Given the description of an element on the screen output the (x, y) to click on. 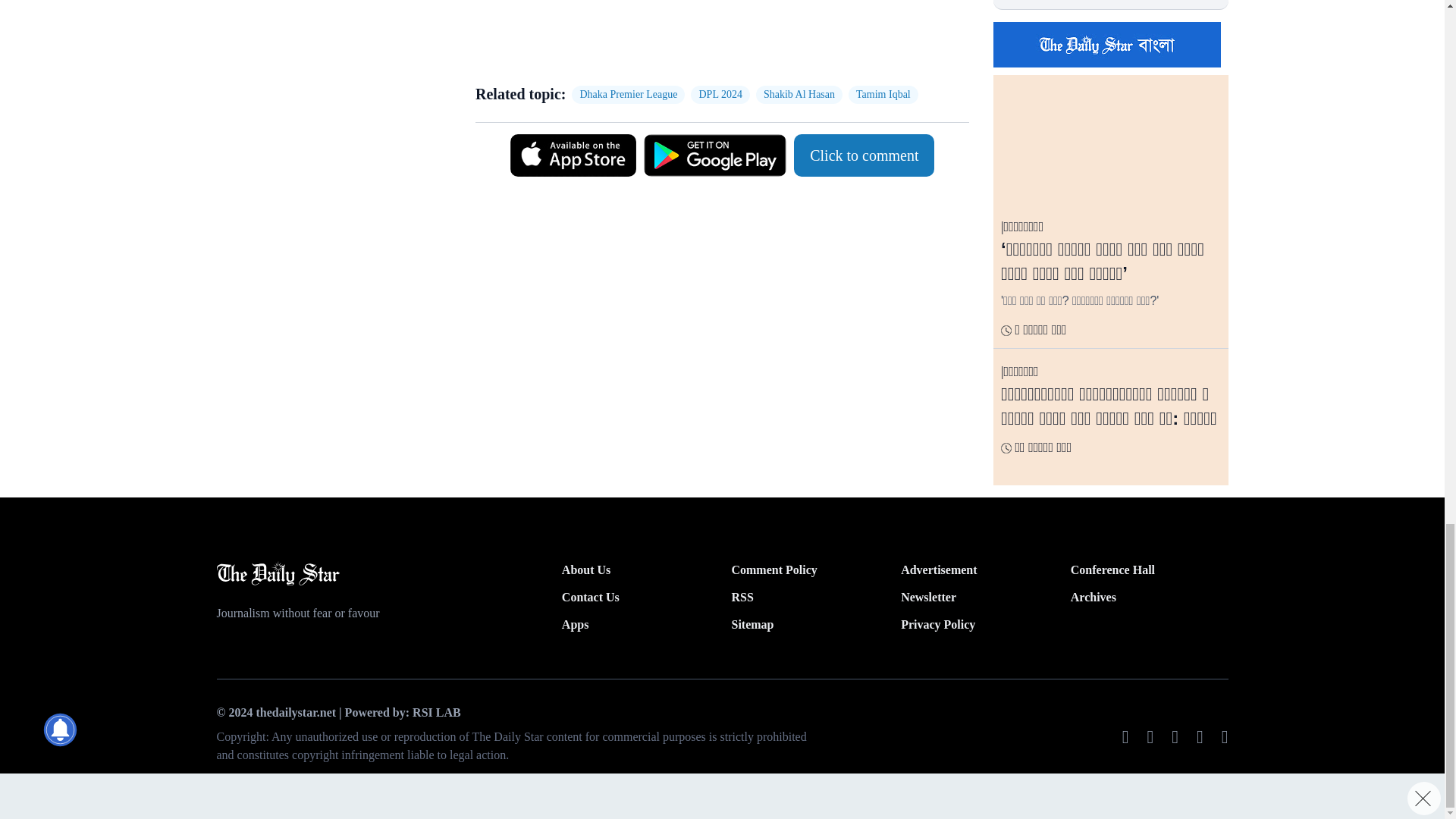
3rd party ad content (714, 36)
